Given the description of an element on the screen output the (x, y) to click on. 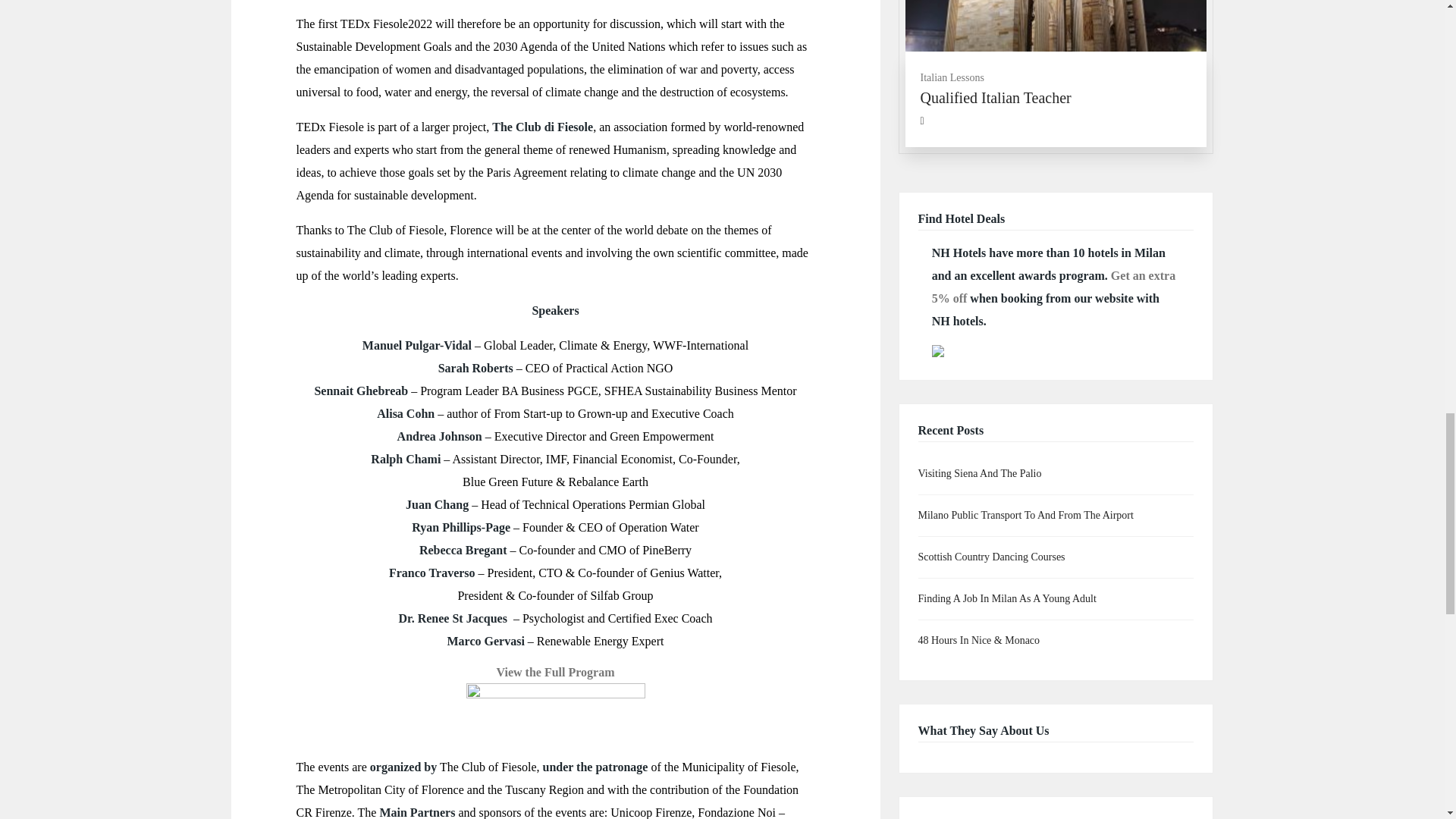
View the Full Program (555, 671)
